Given the description of an element on the screen output the (x, y) to click on. 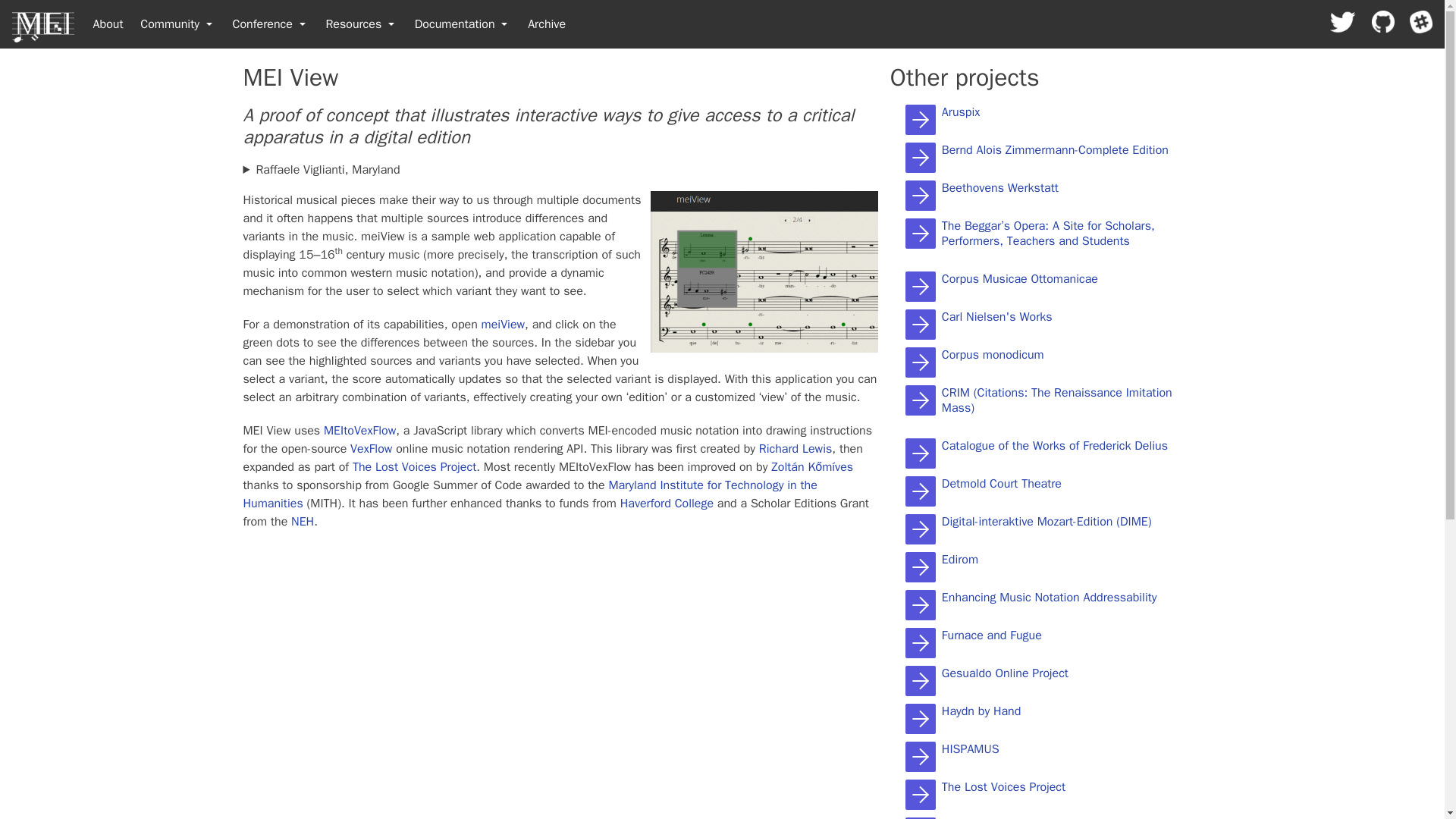
Beethovens Werkstatt (1000, 187)
Corpus Musicae Ottomanicae (920, 286)
Corpus Musicae Ottomanicae (1019, 278)
Beethovens Werkstatt (920, 195)
Resources (361, 23)
Aruspix (960, 111)
Corpus monodicum (920, 361)
Documentation (462, 23)
Community (177, 23)
Carl Nielsen's Works (997, 316)
